Given the description of an element on the screen output the (x, y) to click on. 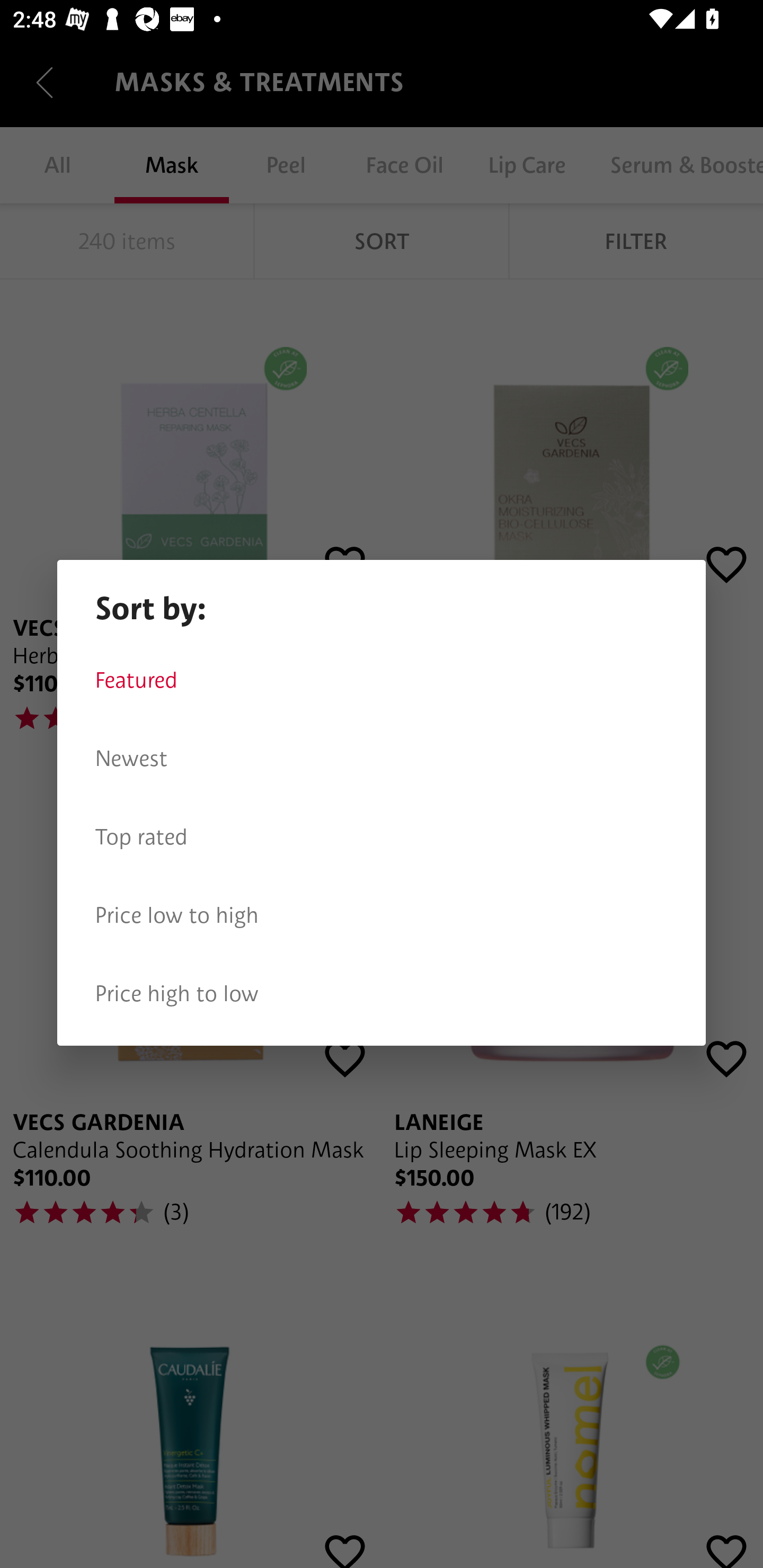
Featured (381, 680)
Newest (381, 758)
Top rated (381, 837)
Price low to high (381, 915)
Price high to low (381, 993)
